Given the description of an element on the screen output the (x, y) to click on. 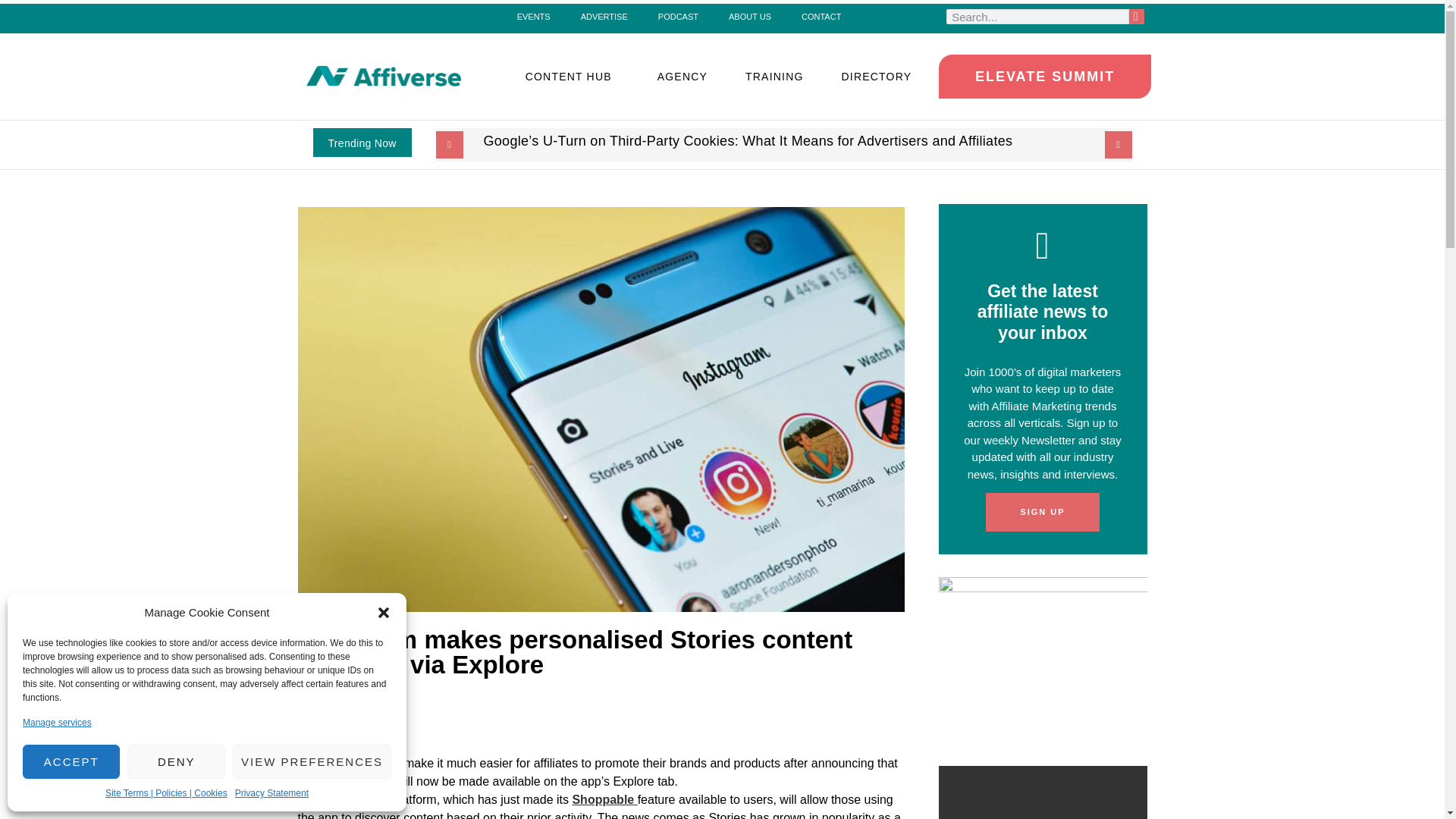
ACCEPT (71, 761)
ABOUT US (749, 16)
PODCAST (678, 16)
EVENTS (534, 16)
AGENCY (682, 76)
DIRECTORY (880, 76)
VIEW PREFERENCES (311, 761)
ADVERTISE (604, 16)
CONTENT HUB (572, 76)
Privacy Statement (271, 793)
CONTACT (821, 16)
DENY (176, 761)
Manage services (57, 722)
TRAINING (774, 76)
